Given the description of an element on the screen output the (x, y) to click on. 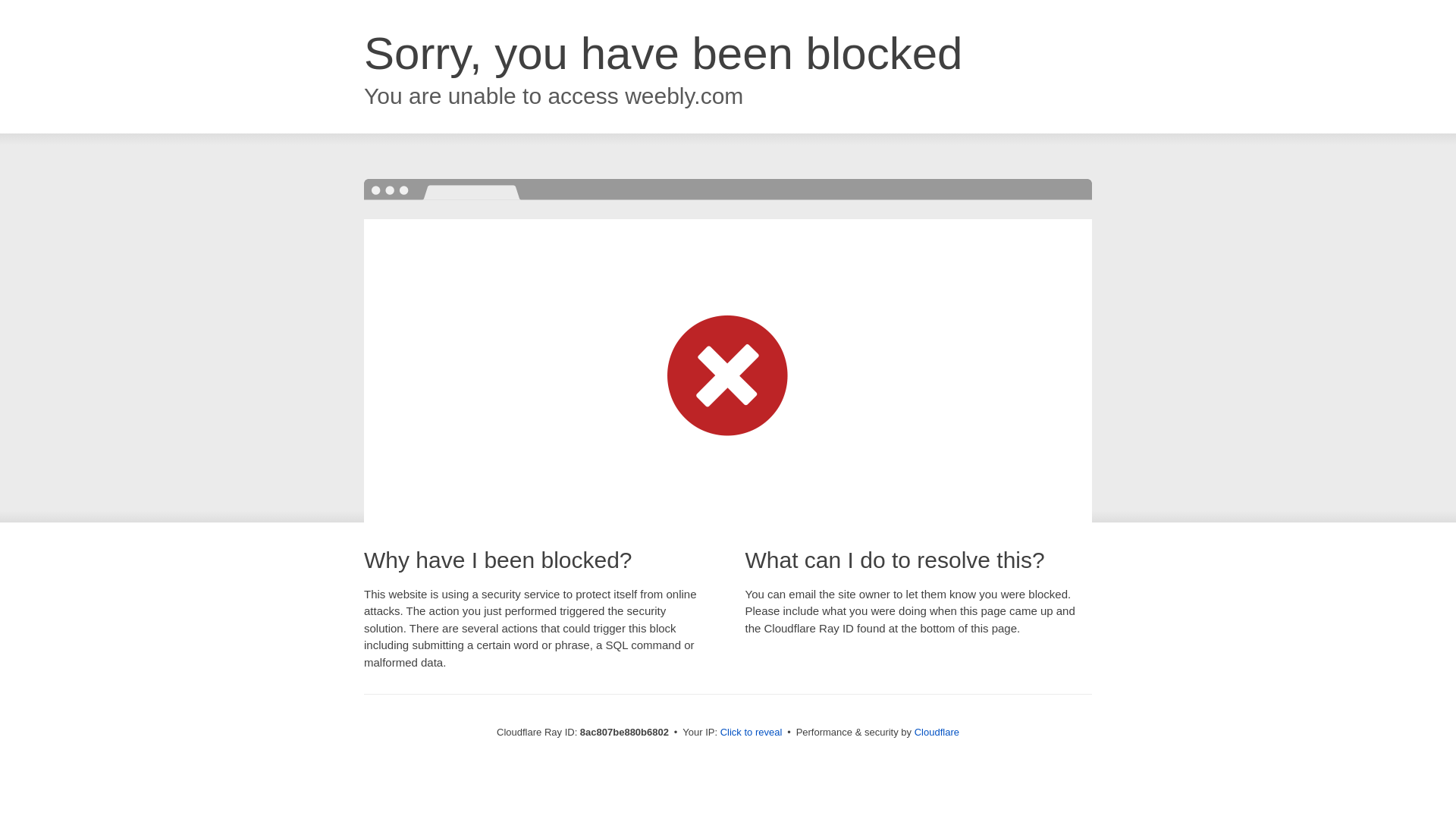
Cloudflare (936, 731)
Click to reveal (751, 732)
